Given the description of an element on the screen output the (x, y) to click on. 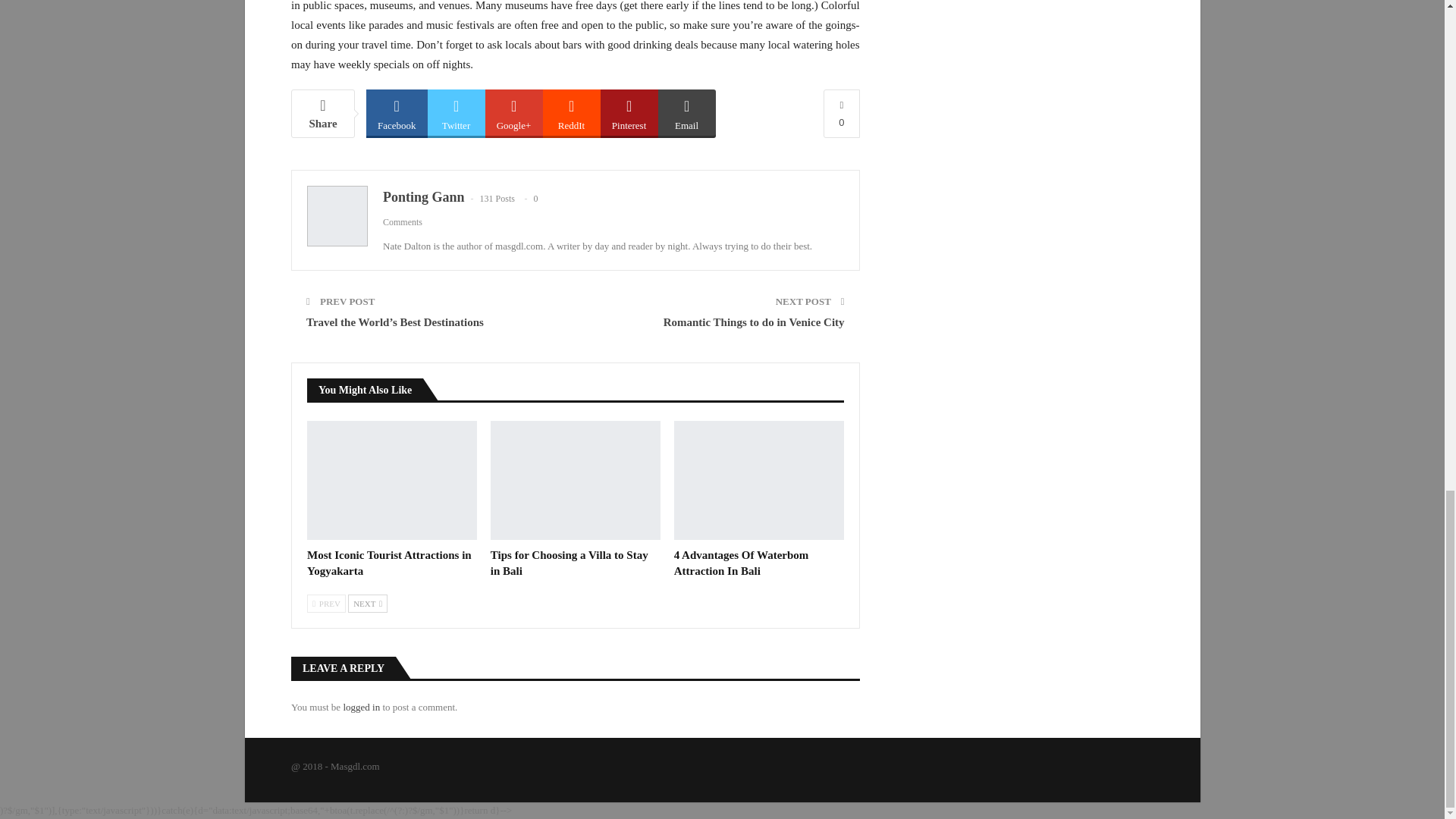
Ponting Gann (423, 196)
Tips for Choosing a Villa to Stay in Bali (568, 562)
Twitter (456, 112)
Most Iconic Tourist Attractions in Yogyakarta (389, 562)
4 Advantages Of Waterbom Attraction In Bali (741, 562)
Email (687, 112)
Pinterest (628, 112)
Most Iconic Tourist Attractions in Yogyakarta (392, 479)
Facebook (397, 112)
Tips for Choosing a Villa to Stay in Bali (575, 479)
4 Advantages Of Waterbom Attraction In Bali (759, 479)
ReddIt (571, 112)
